Given the description of an element on the screen output the (x, y) to click on. 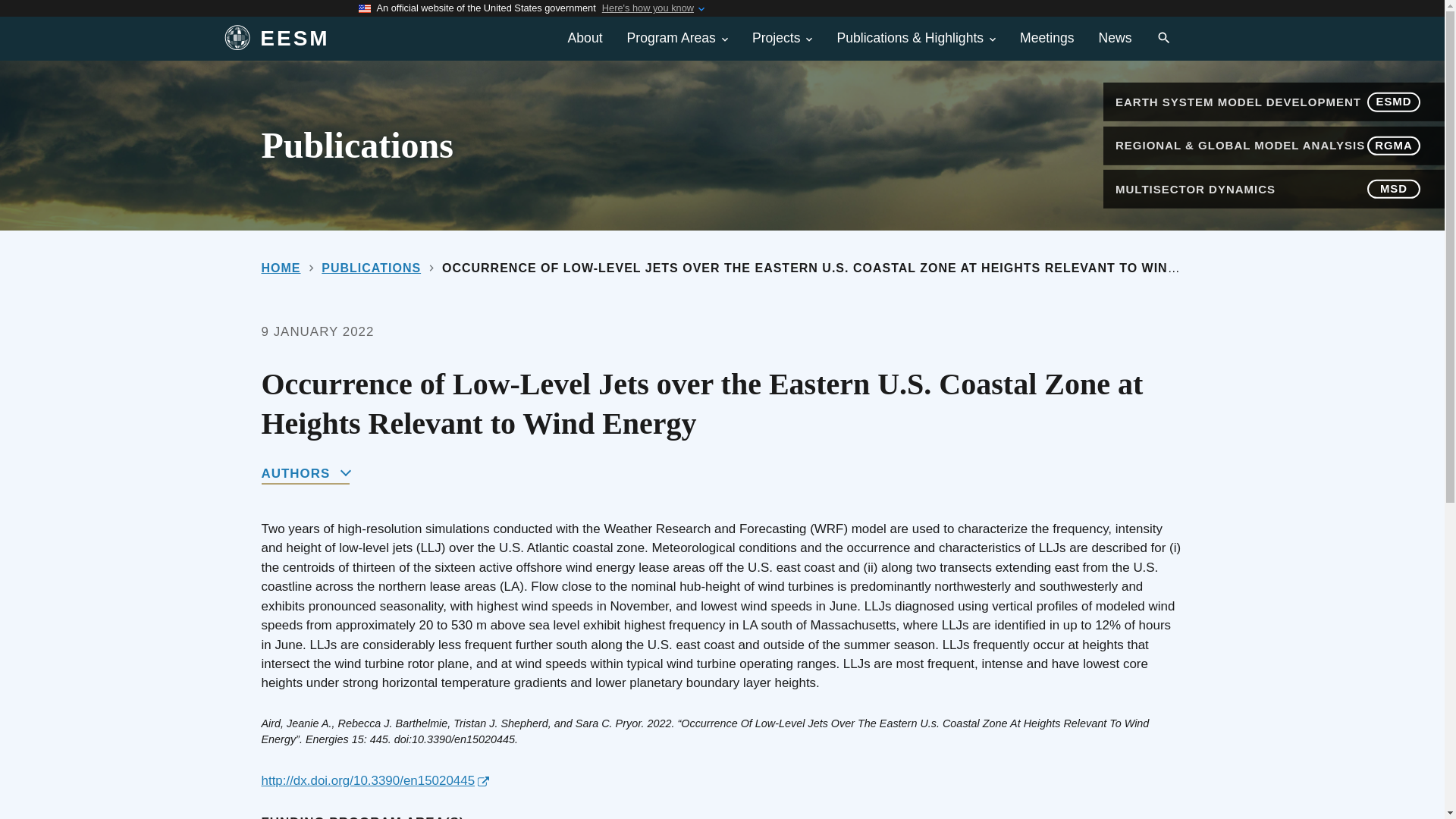
About (585, 38)
Program Areas (676, 38)
Projects (782, 38)
PUBLICATIONS (370, 267)
EESM (374, 38)
Meetings (1046, 38)
News (1114, 38)
HOME (279, 267)
Here's how you know (648, 8)
